Given the description of an element on the screen output the (x, y) to click on. 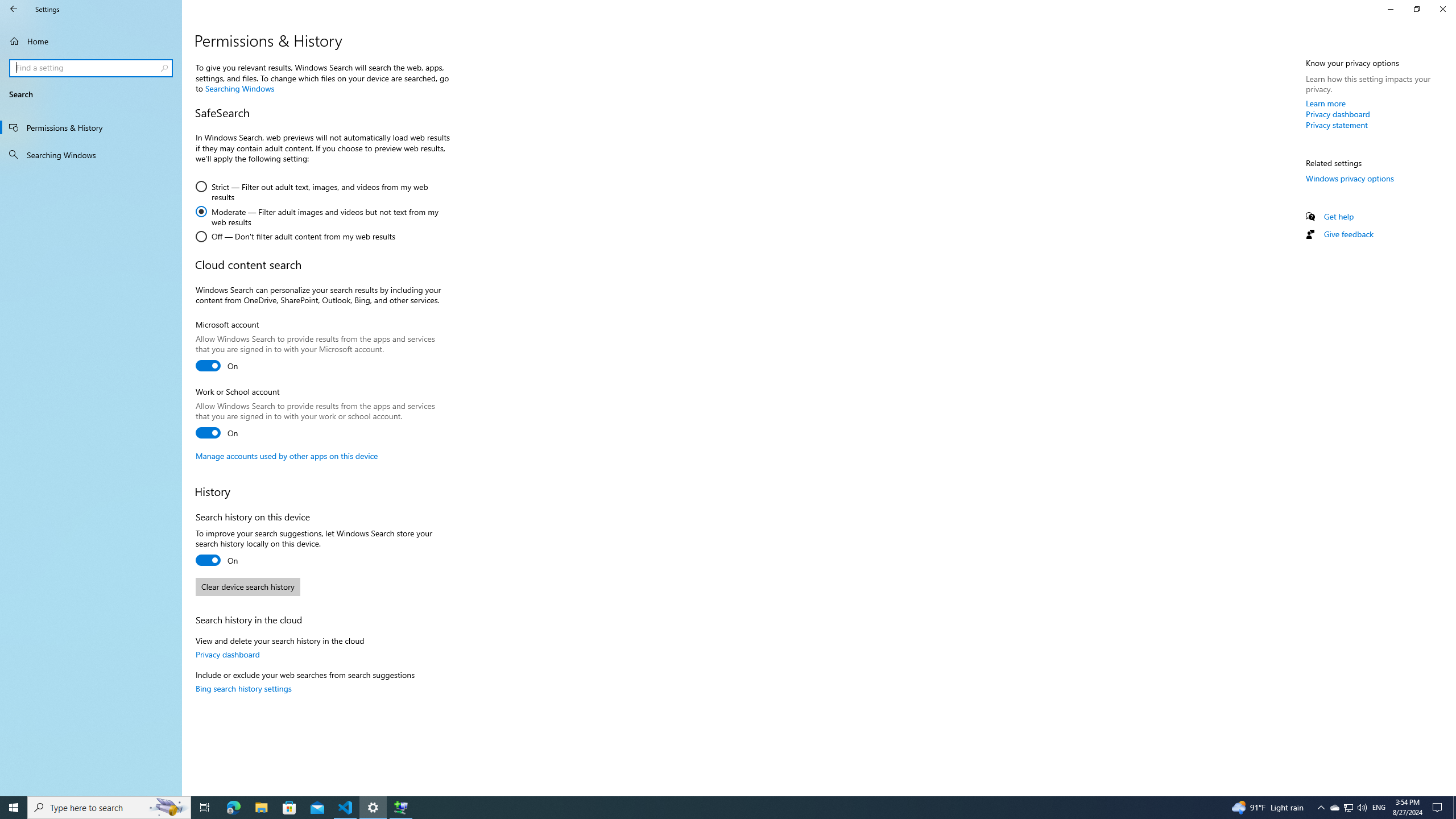
Get help (1338, 216)
Search history on this device (216, 560)
Search box, Find a setting (91, 67)
Restore Settings (1416, 9)
Bing search history settings (243, 688)
Manage accounts used by other apps on this device (286, 455)
Settings - 1 running window (373, 807)
Home (91, 40)
